Given the description of an element on the screen output the (x, y) to click on. 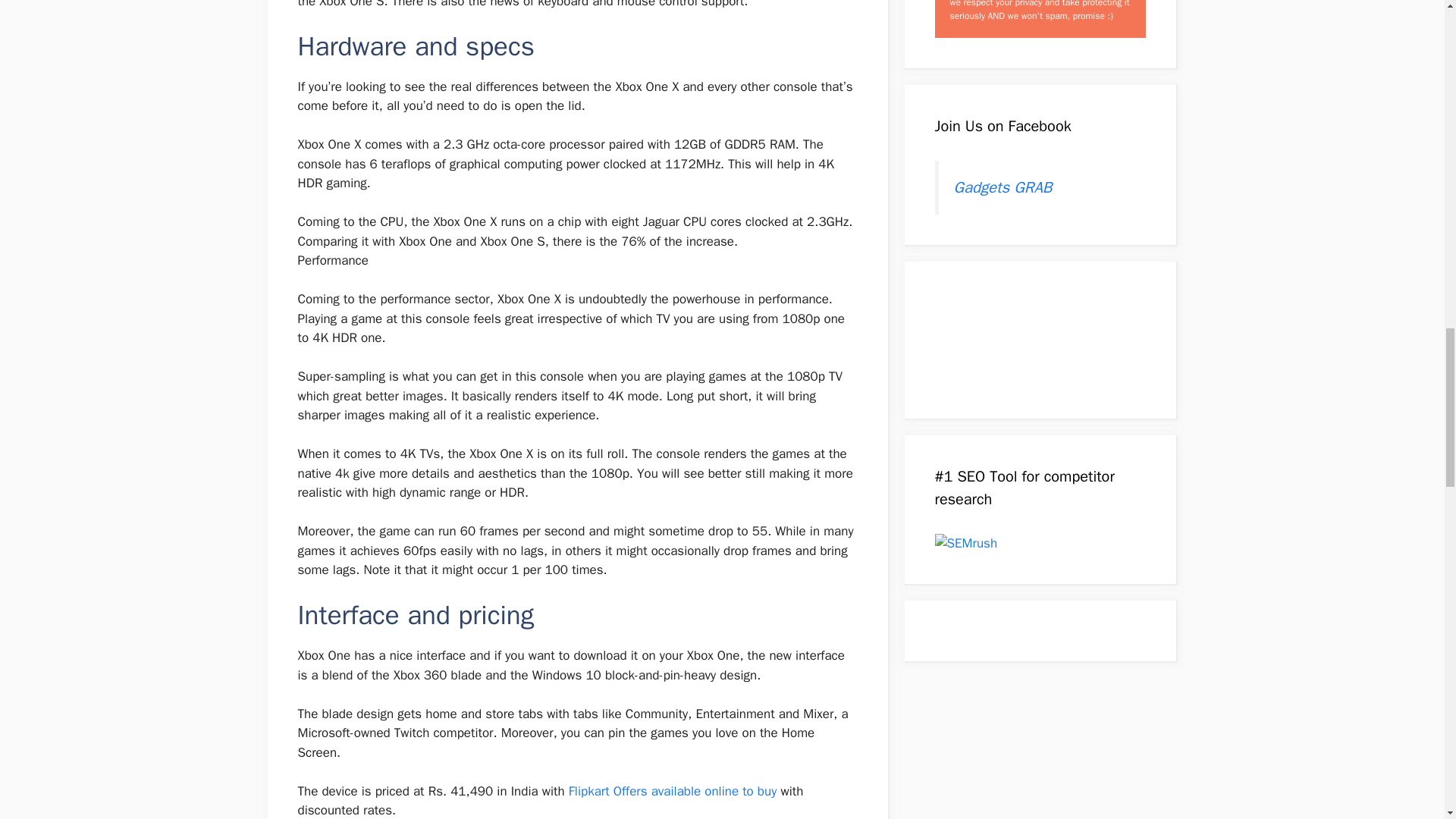
Flipkart Offers available online to buy (673, 790)
